Given the description of an element on the screen output the (x, y) to click on. 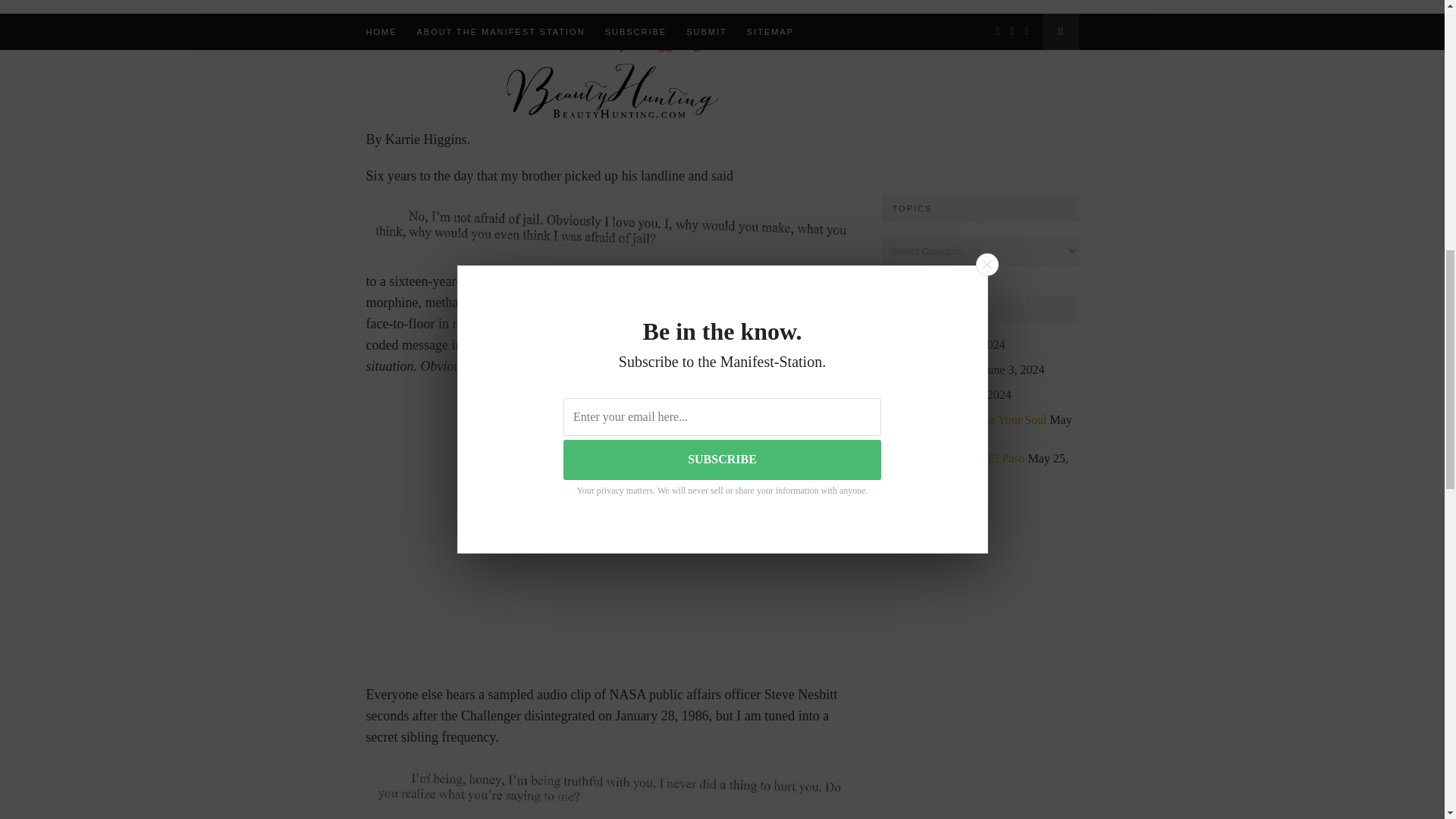
Touch Trail Romper (929, 369)
Fixing Dad (908, 344)
